Given the description of an element on the screen output the (x, y) to click on. 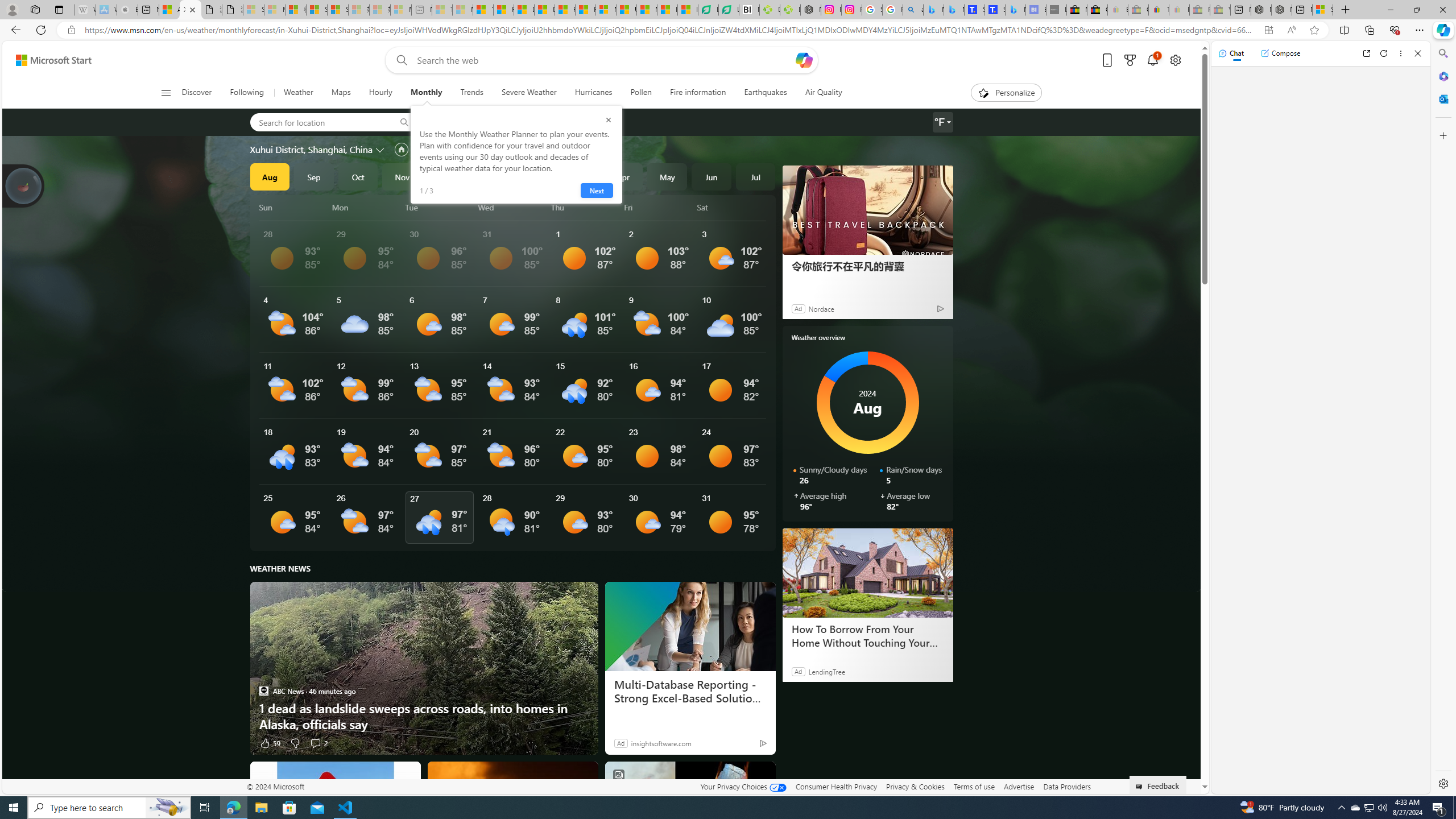
AutomationID: donut-chart-monthly (867, 402)
Thu (585, 207)
Marine life - MSN - Sleeping (461, 9)
Apr (622, 176)
Microsoft Bing Travel - Flights from Hong Kong to Bangkok (933, 9)
Threats and offensive language policy | eBay (1158, 9)
Trends (471, 92)
Buy iPad - Apple - Sleeping (127, 9)
